Given the description of an element on the screen output the (x, y) to click on. 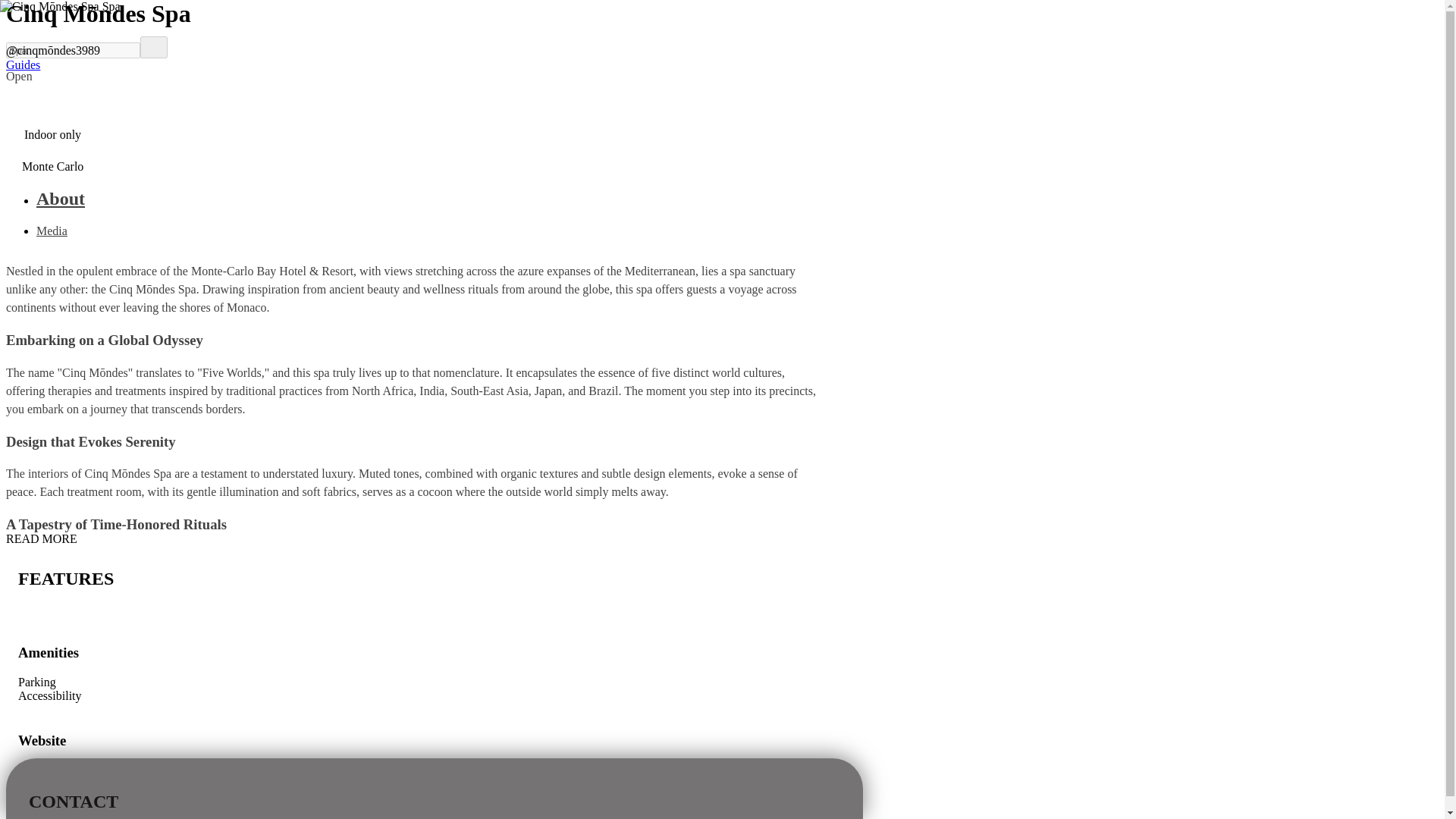
Media (51, 230)
About (426, 199)
